Given the description of an element on the screen output the (x, y) to click on. 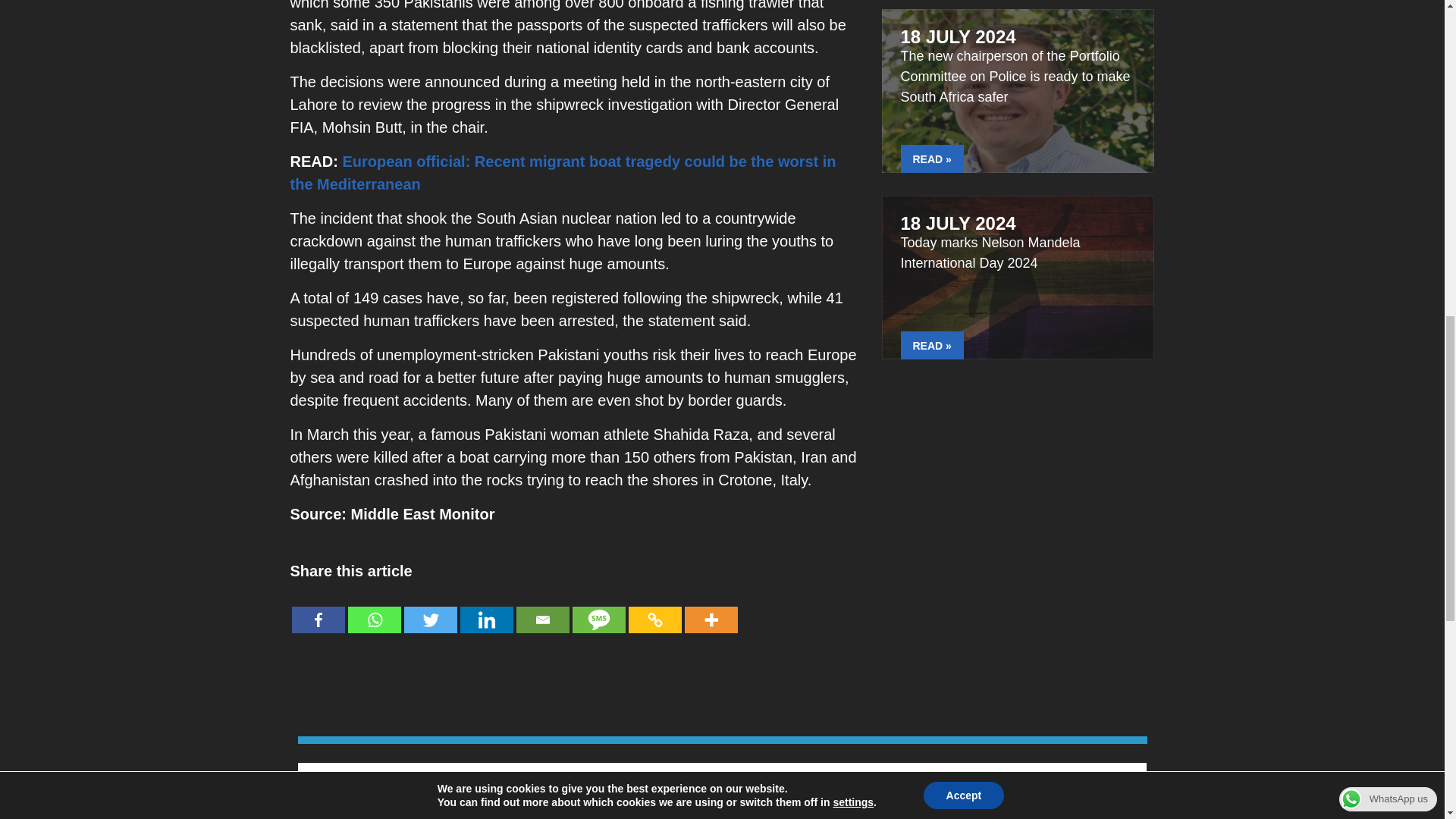
Whatsapp (373, 608)
Facebook (317, 608)
SMS (598, 608)
Twitter (430, 608)
Linkedin (486, 608)
Email (542, 608)
